Given the description of an element on the screen output the (x, y) to click on. 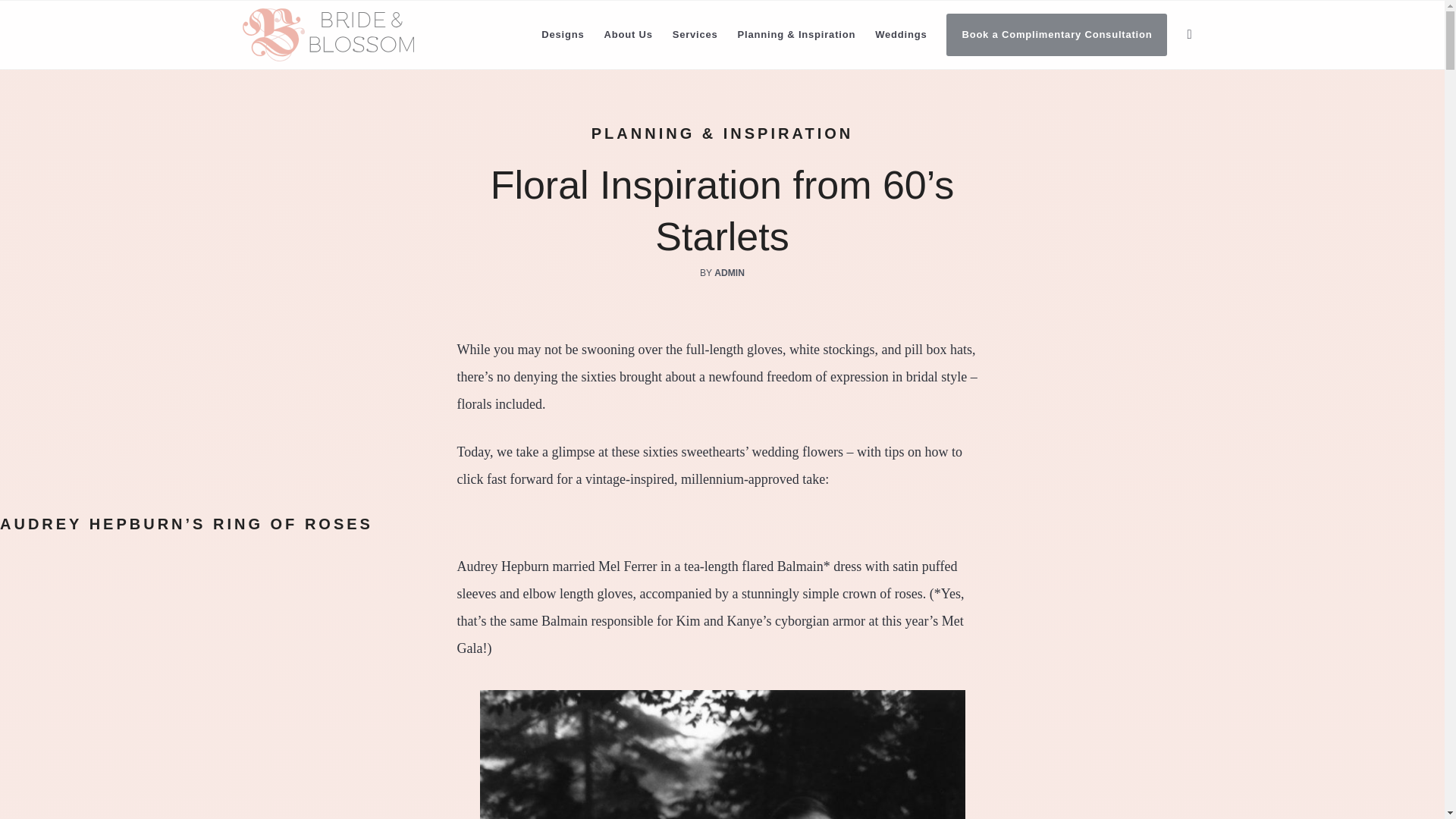
Weddings (900, 34)
Designs (562, 34)
Weddings (900, 34)
ADMIN (729, 272)
Posts by admin (729, 272)
Book a Complimentary Consultation (1056, 34)
Services (695, 34)
Services (695, 34)
About Us (628, 34)
Book a Complimentary Consultation (1056, 34)
